Given the description of an element on the screen output the (x, y) to click on. 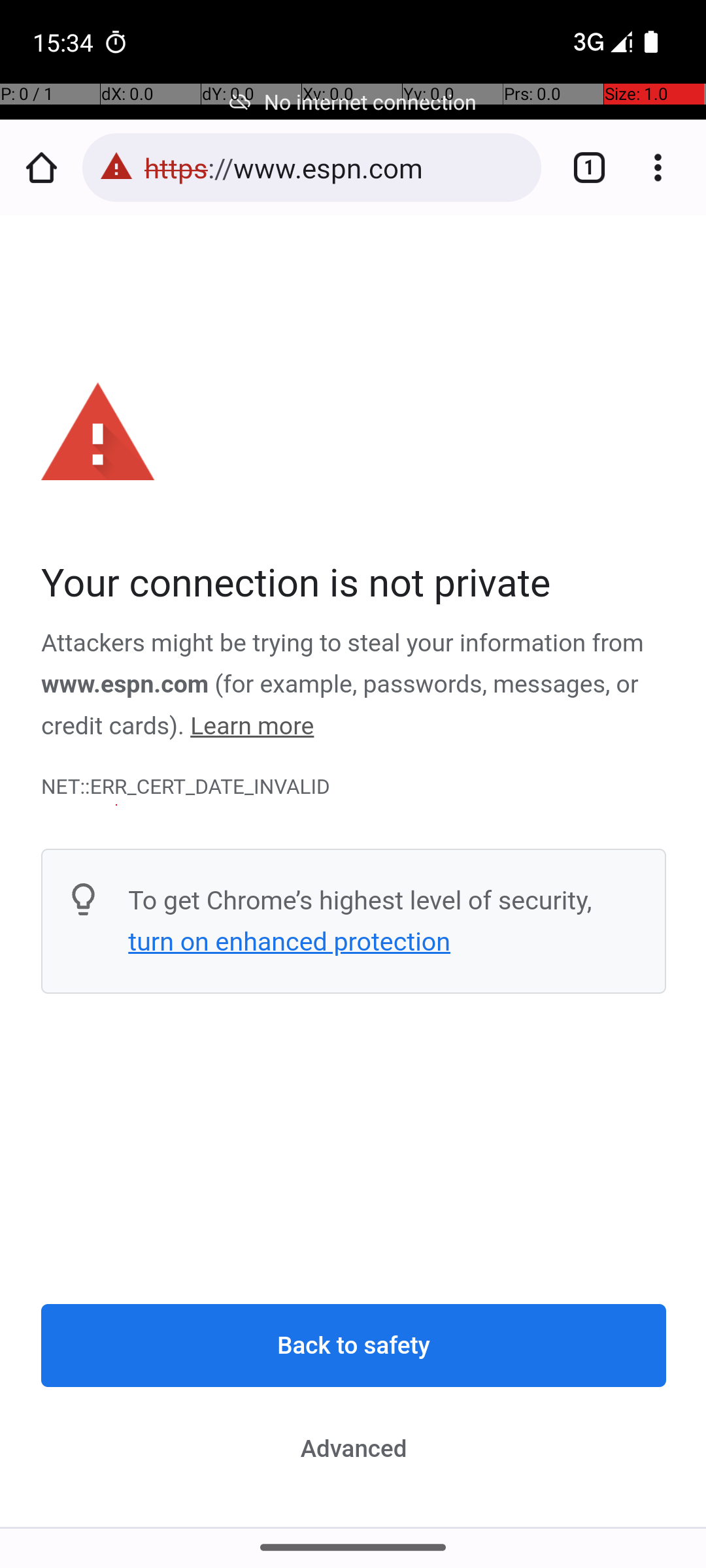
https://www.espn.com Element type: android.widget.EditText (335, 167)
www.espn.com Element type: android.widget.TextView (125, 684)
